Given the description of an element on the screen output the (x, y) to click on. 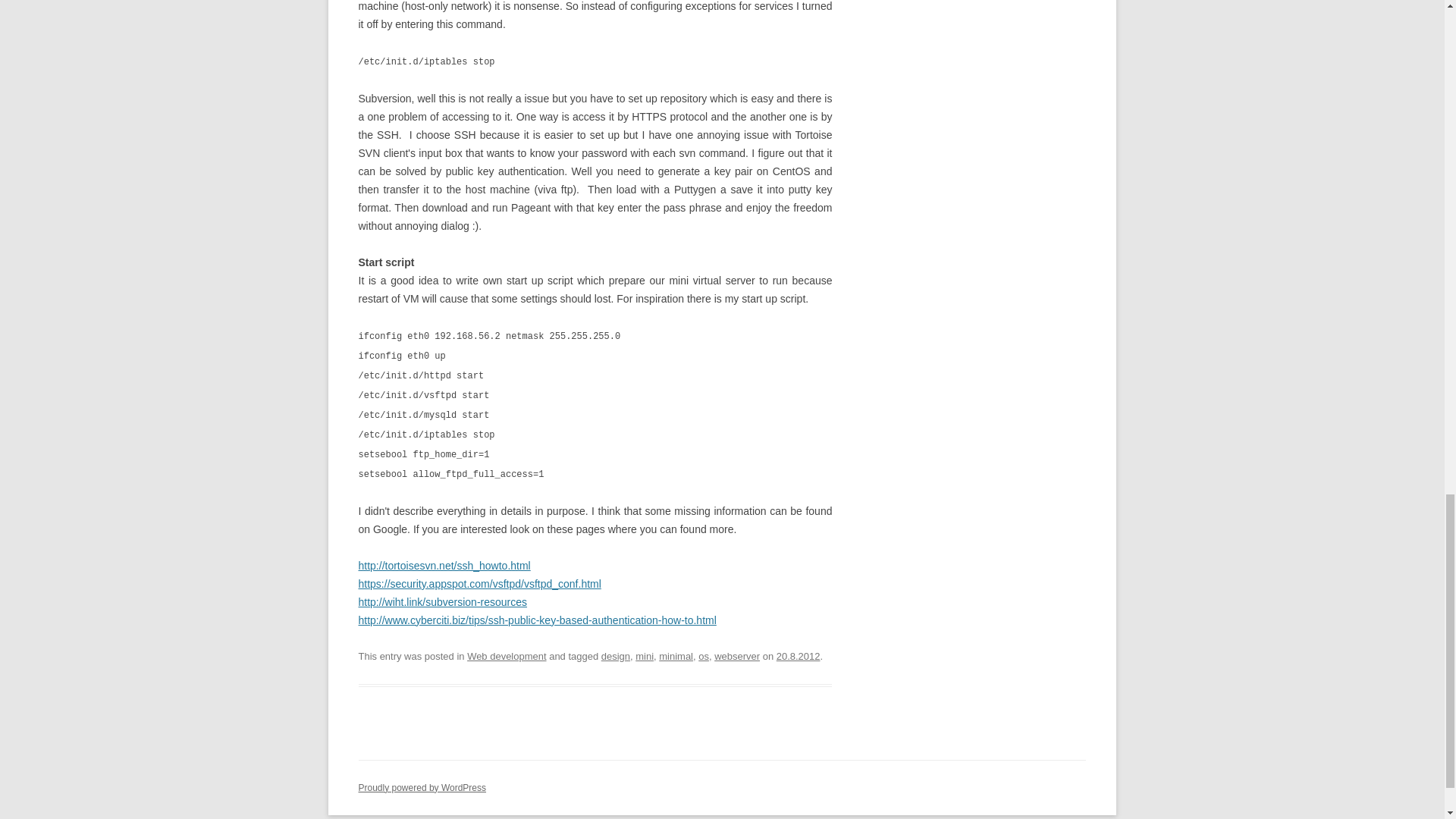
os (703, 655)
minimal (676, 655)
webserver (737, 655)
mini (643, 655)
18.07 (798, 655)
design (615, 655)
20.8.2012 (798, 655)
Semantic Personal Publishing Platform (422, 787)
Web development (506, 655)
